Given the description of an element on the screen output the (x, y) to click on. 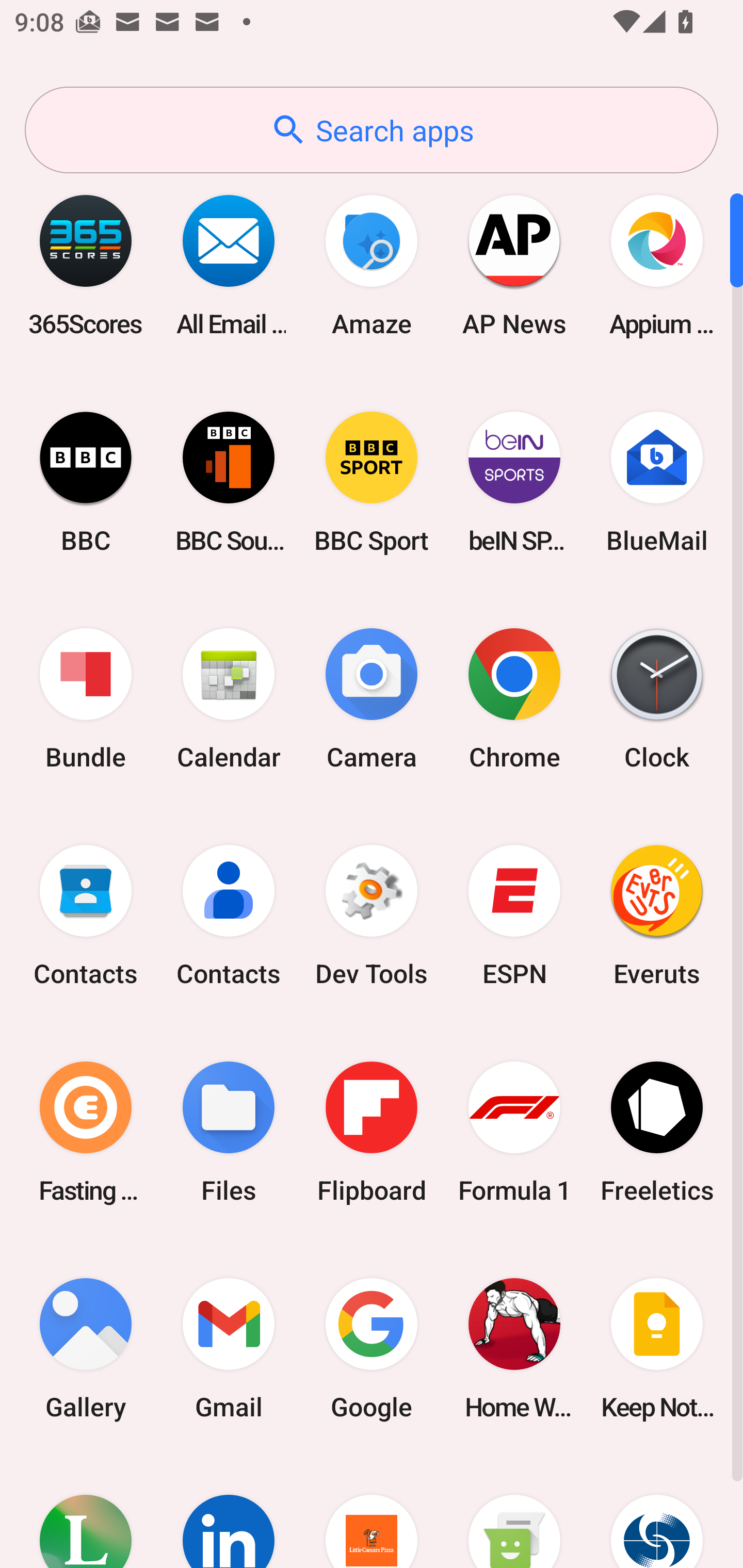
  Search apps (371, 130)
365Scores (85, 264)
All Email Connect (228, 264)
Amaze (371, 264)
AP News (514, 264)
Appium Settings (656, 264)
BBC (85, 482)
BBC Sounds (228, 482)
BBC Sport (371, 482)
beIN SPORTS (514, 482)
BlueMail (656, 482)
Bundle (85, 699)
Calendar (228, 699)
Camera (371, 699)
Chrome (514, 699)
Clock (656, 699)
Contacts (85, 915)
Contacts (228, 915)
Dev Tools (371, 915)
ESPN (514, 915)
Everuts (656, 915)
Fasting Coach (85, 1131)
Files (228, 1131)
Flipboard (371, 1131)
Formula 1 (514, 1131)
Freeletics (656, 1131)
Gallery (85, 1348)
Gmail (228, 1348)
Google (371, 1348)
Home Workout (514, 1348)
Keep Notes (656, 1348)
Lifesum (85, 1512)
LinkedIn (228, 1512)
Little Caesars Pizza (371, 1512)
Messaging (514, 1512)
MyObservatory (656, 1512)
